Given the description of an element on the screen output the (x, y) to click on. 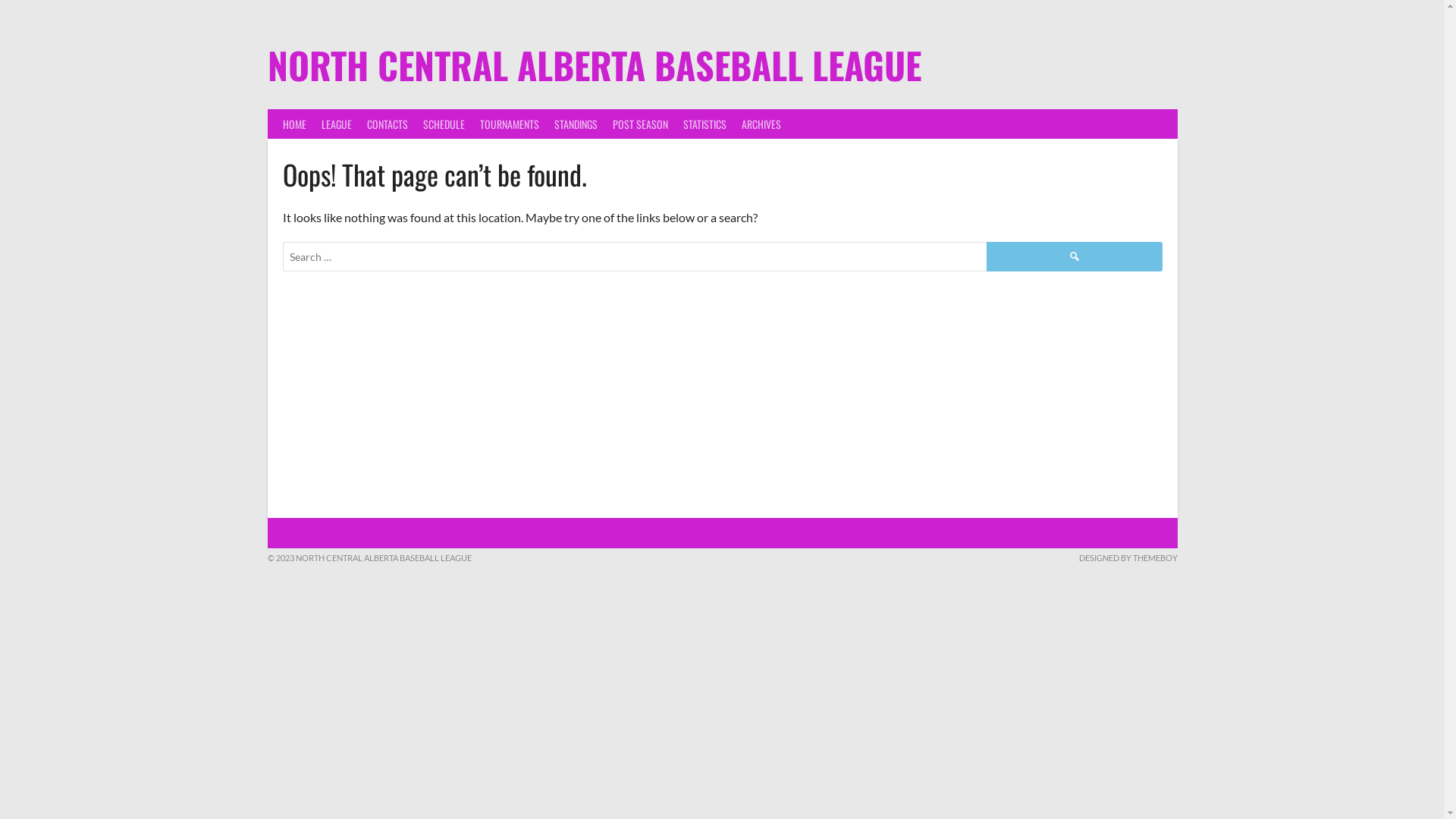
HOME Element type: text (293, 123)
STATISTICS Element type: text (703, 123)
ARCHIVES Element type: text (761, 123)
Search Element type: hover (1073, 255)
STANDINGS Element type: text (575, 123)
POST SEASON Element type: text (640, 123)
DESIGNED BY THEMEBOY Element type: text (1127, 556)
TOURNAMENTS Element type: text (508, 123)
NORTH CENTRAL ALBERTA BASEBALL LEAGUE Element type: text (593, 64)
CONTACTS Element type: text (387, 123)
LEAGUE Element type: text (336, 123)
SCHEDULE Element type: text (443, 123)
